Given the description of an element on the screen output the (x, y) to click on. 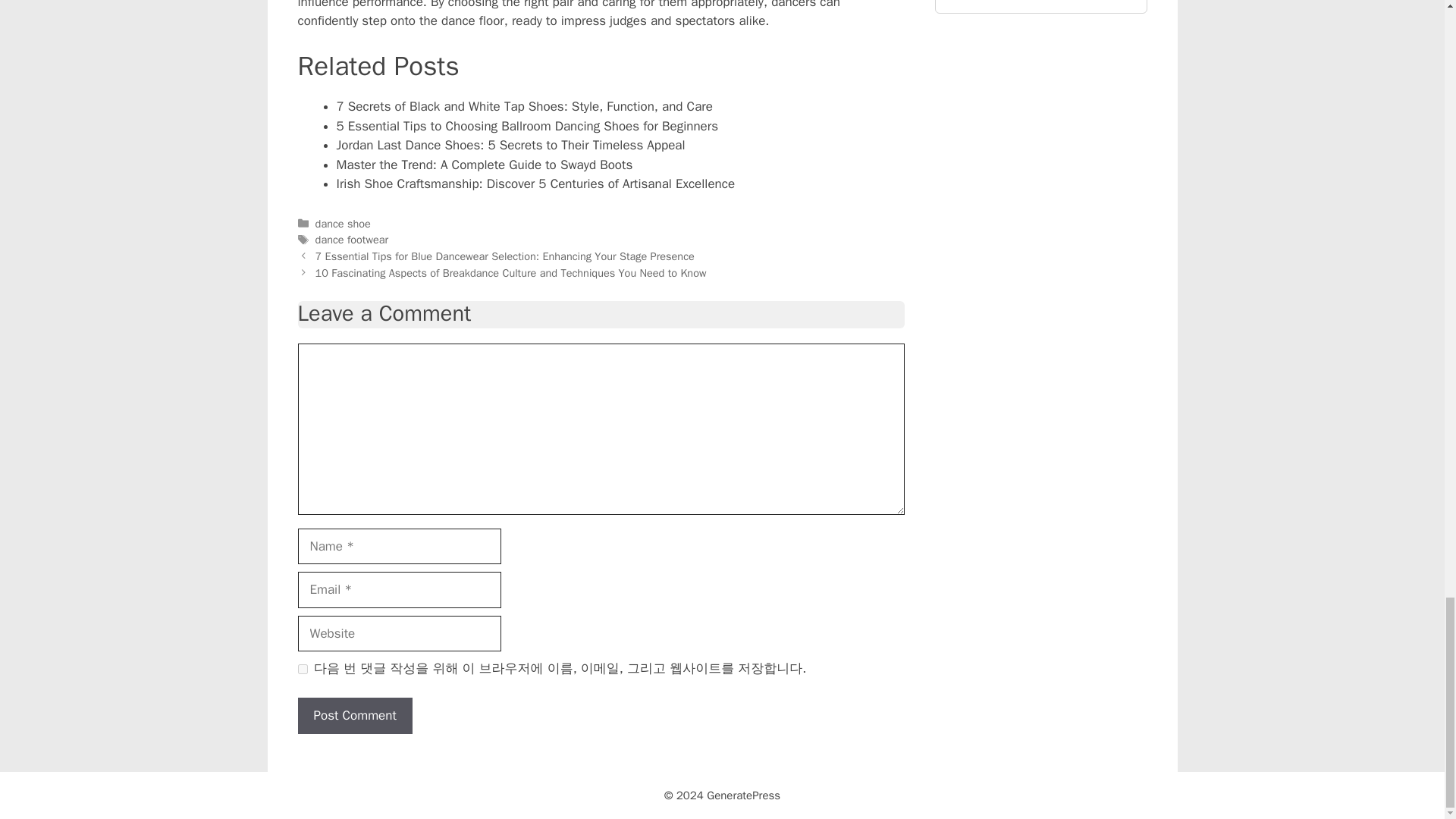
Jordan Last Dance Shoes: 5 Secrets to Their Timeless Appeal (510, 145)
Post Comment (354, 715)
Master the Trend: A Complete Guide to Swayd Boots (484, 164)
dance footwear (351, 239)
dance shoe (343, 223)
yes (302, 669)
Post Comment (354, 715)
